Given the description of an element on the screen output the (x, y) to click on. 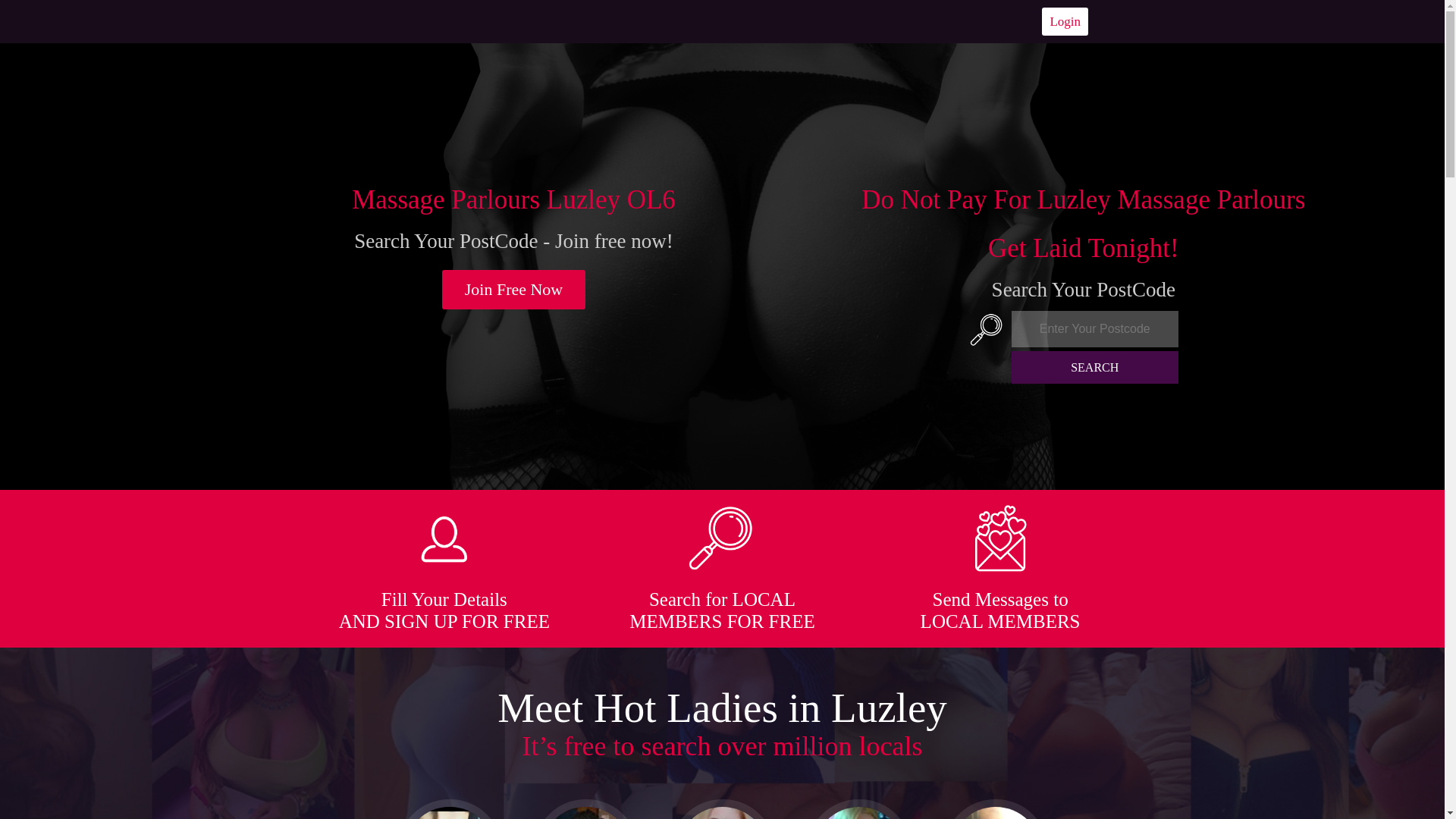
Login (1064, 21)
Join Free Now (514, 289)
Join (514, 289)
SEARCH (1094, 367)
Login (1064, 21)
